Given the description of an element on the screen output the (x, y) to click on. 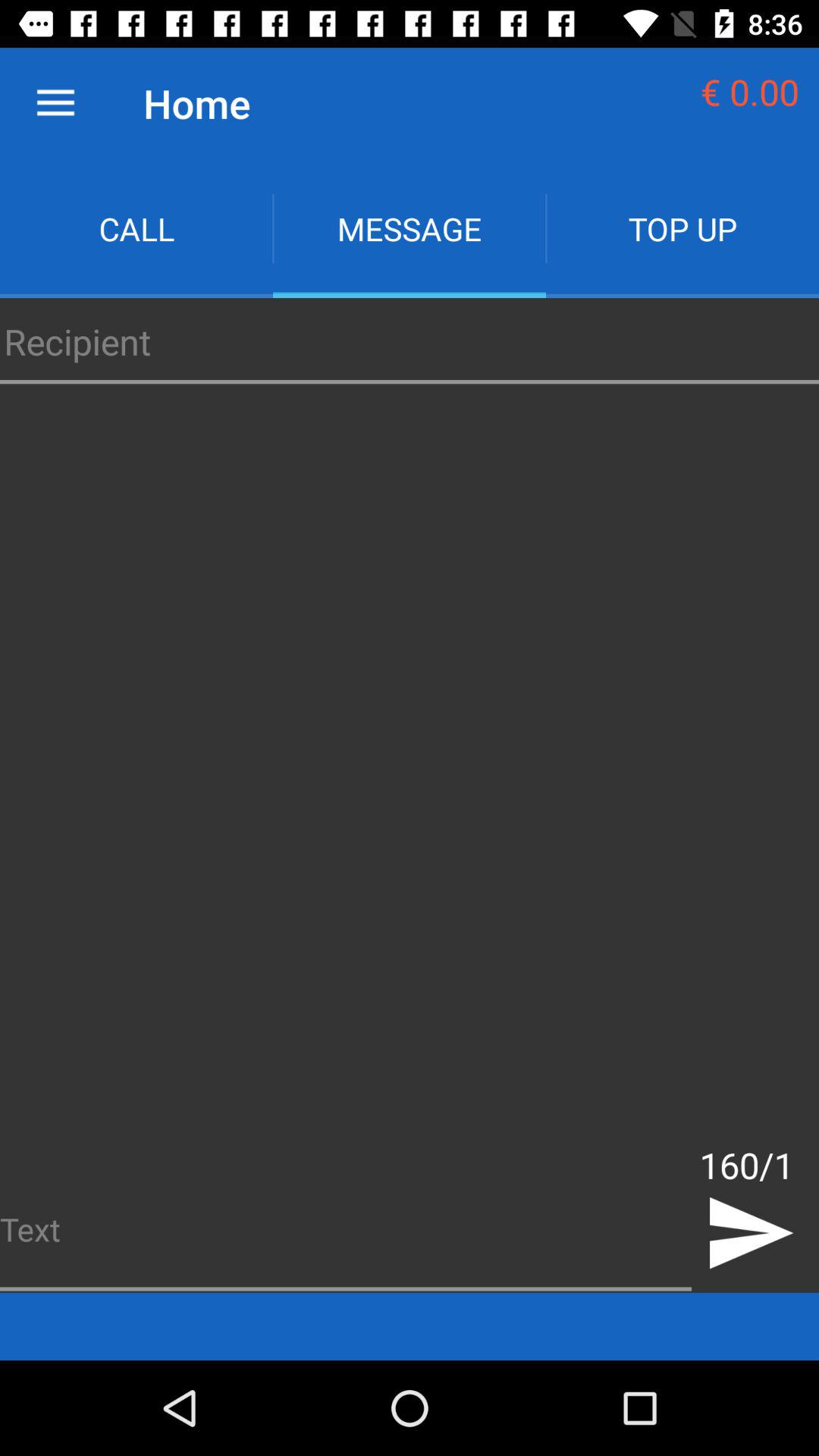
turn on the item to the right of the message app (682, 228)
